Given the description of an element on the screen output the (x, y) to click on. 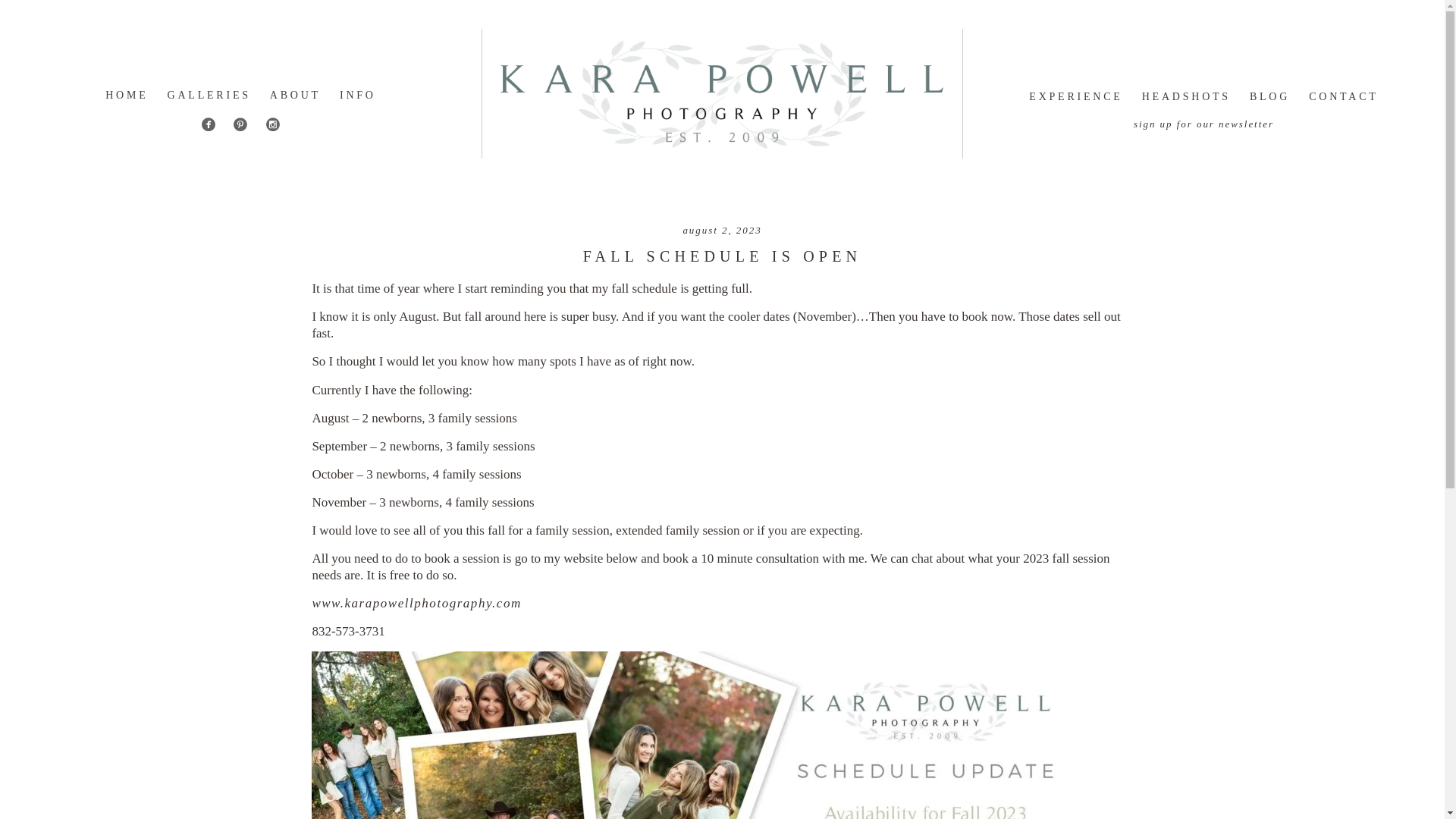
GALLERIES (208, 94)
sign up for our newsletter (1204, 123)
HEADSHOTS (1185, 96)
INFO (357, 94)
EXPERIENCE (1075, 96)
HOME (126, 94)
www.karapowellphotography.com (416, 603)
ABOUT (294, 94)
CONTACT (1342, 96)
BLOG (1269, 96)
